Given the description of an element on the screen output the (x, y) to click on. 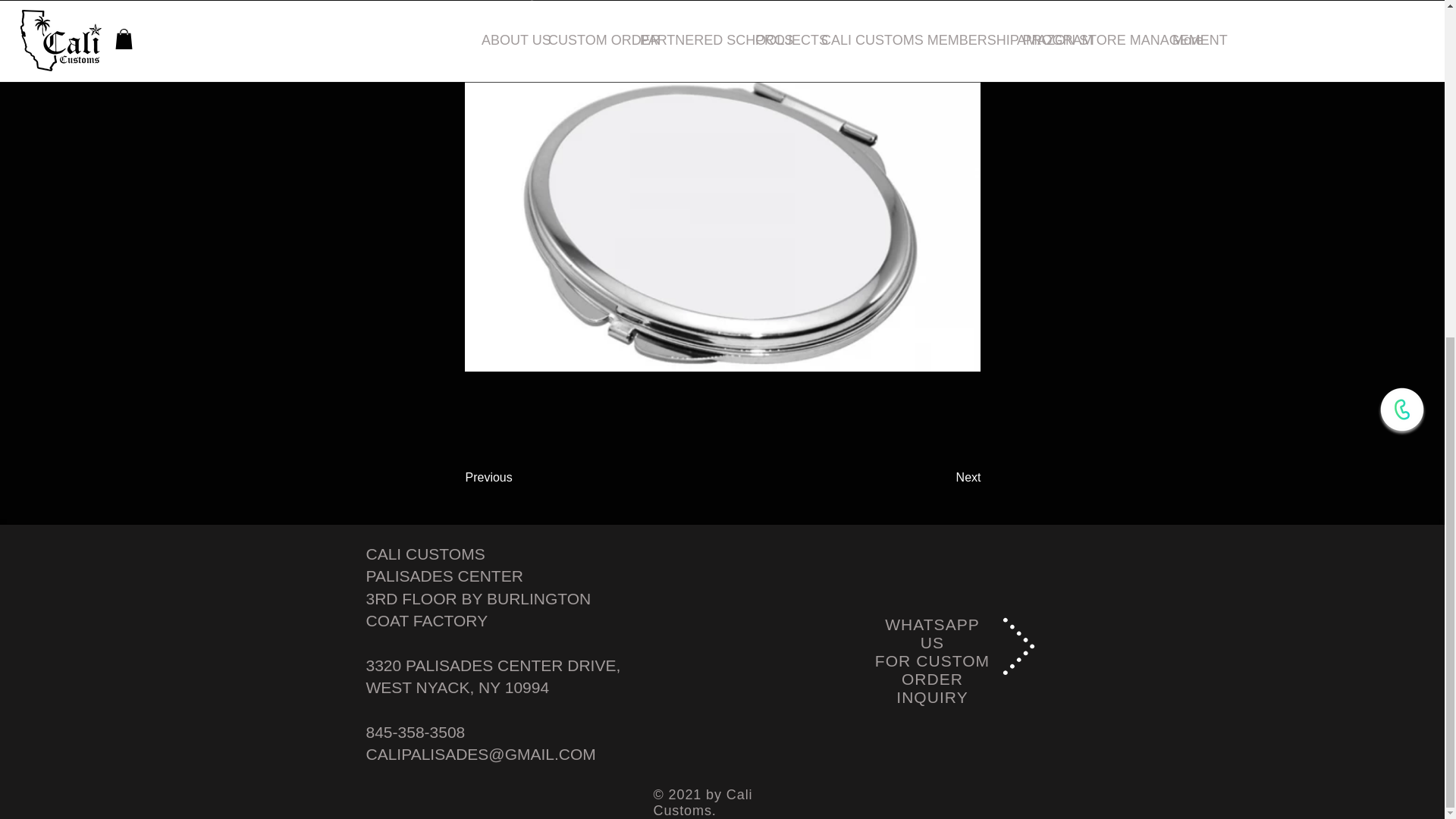
Previous (515, 477)
Next (943, 477)
